Given the description of an element on the screen output the (x, y) to click on. 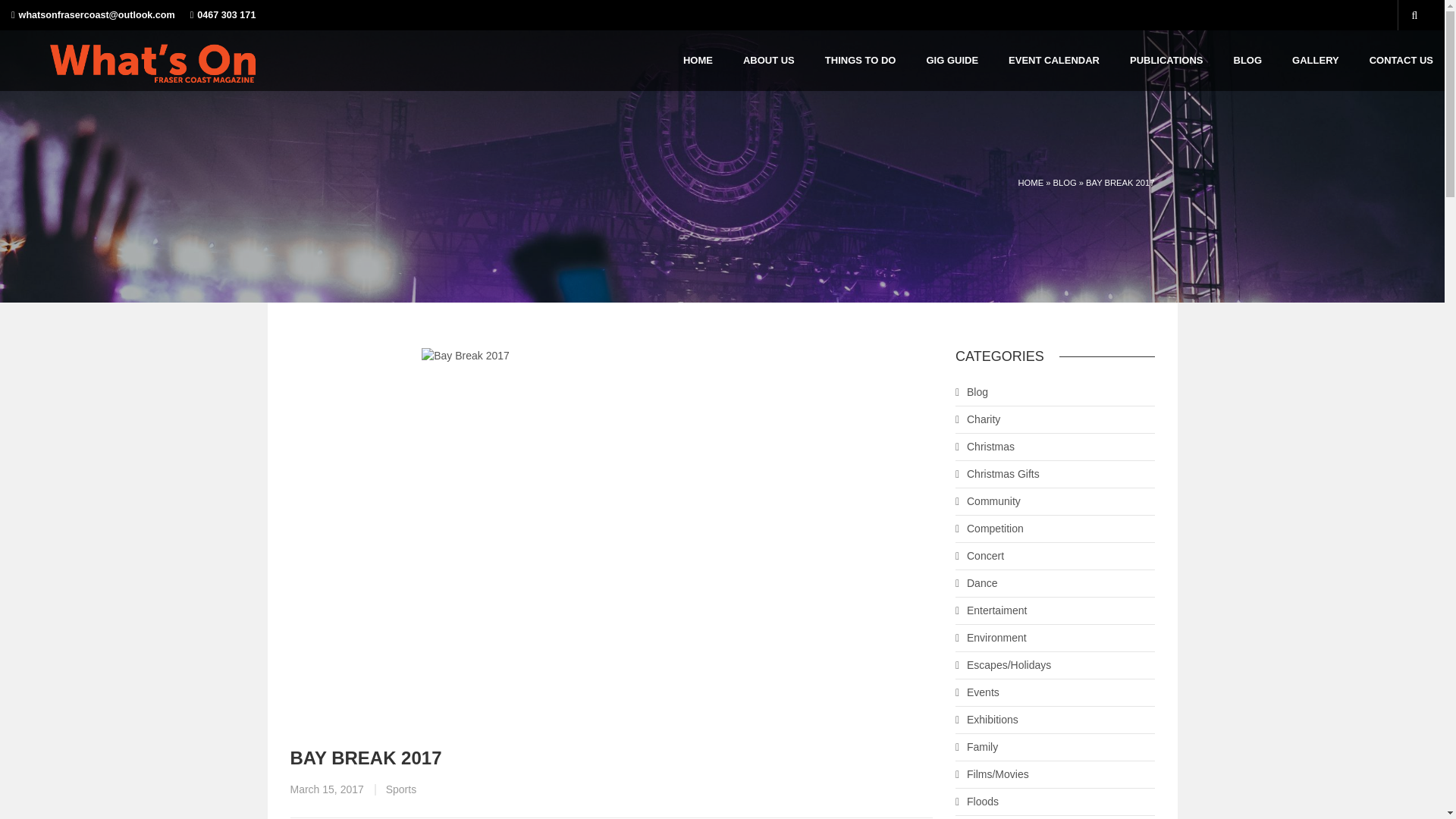
THINGS TO DO (860, 60)
HOME (697, 60)
GIG GUIDE (952, 60)
ABOUT US (768, 60)
BLOG (1247, 60)
PUBLICATIONS (1166, 60)
GALLERY (1315, 60)
EVENT CALENDAR (1054, 60)
